Given the description of an element on the screen output the (x, y) to click on. 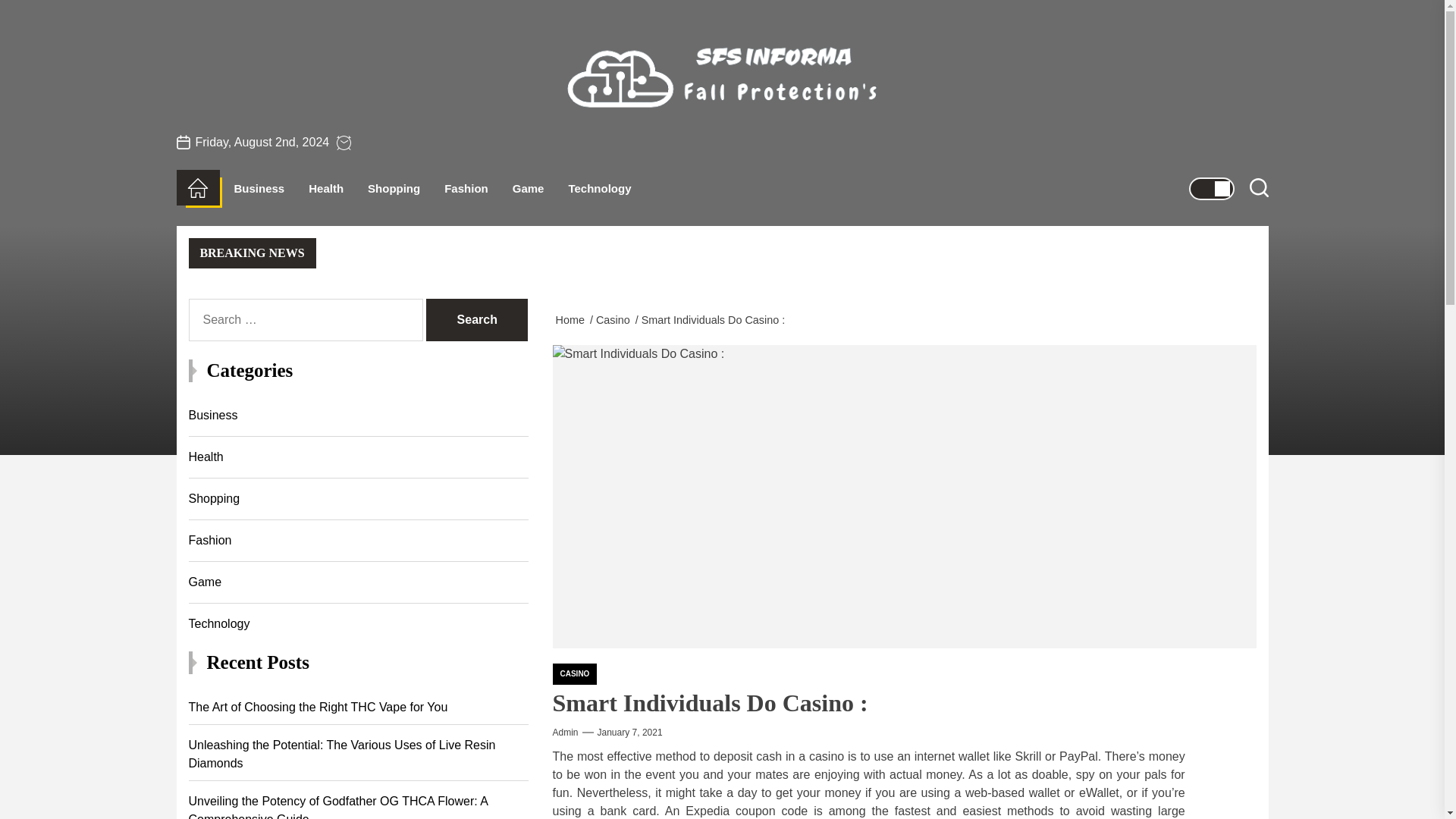
Health (325, 188)
Casino (615, 319)
Shopping (394, 188)
Technology (598, 188)
Admin (564, 732)
Search (476, 319)
Game (528, 188)
CASINO (573, 673)
Fashion (465, 188)
Business (257, 188)
Smart Individuals Do Casino : (716, 319)
Home (571, 319)
Home (197, 187)
SFS INFORMA (689, 138)
Search (476, 319)
